Given the description of an element on the screen output the (x, y) to click on. 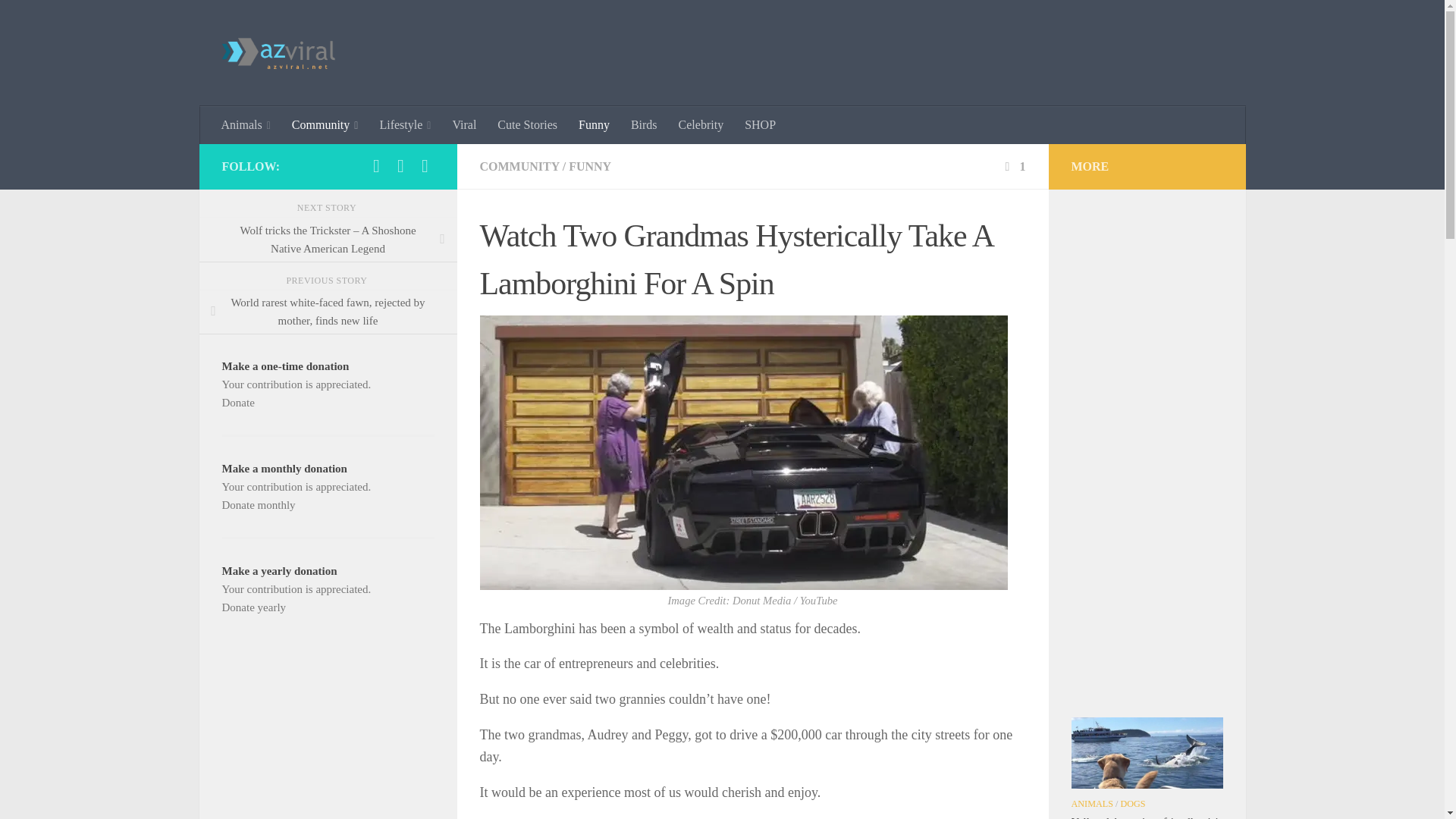
Lifestyle (404, 125)
COMMUNITY (519, 165)
1 (1013, 165)
FUNNY (590, 165)
SHOP (759, 125)
Follow us on Pinterest (400, 166)
Animals (246, 125)
Community (325, 125)
Celebrity (701, 125)
Funny (593, 125)
